Given the description of an element on the screen output the (x, y) to click on. 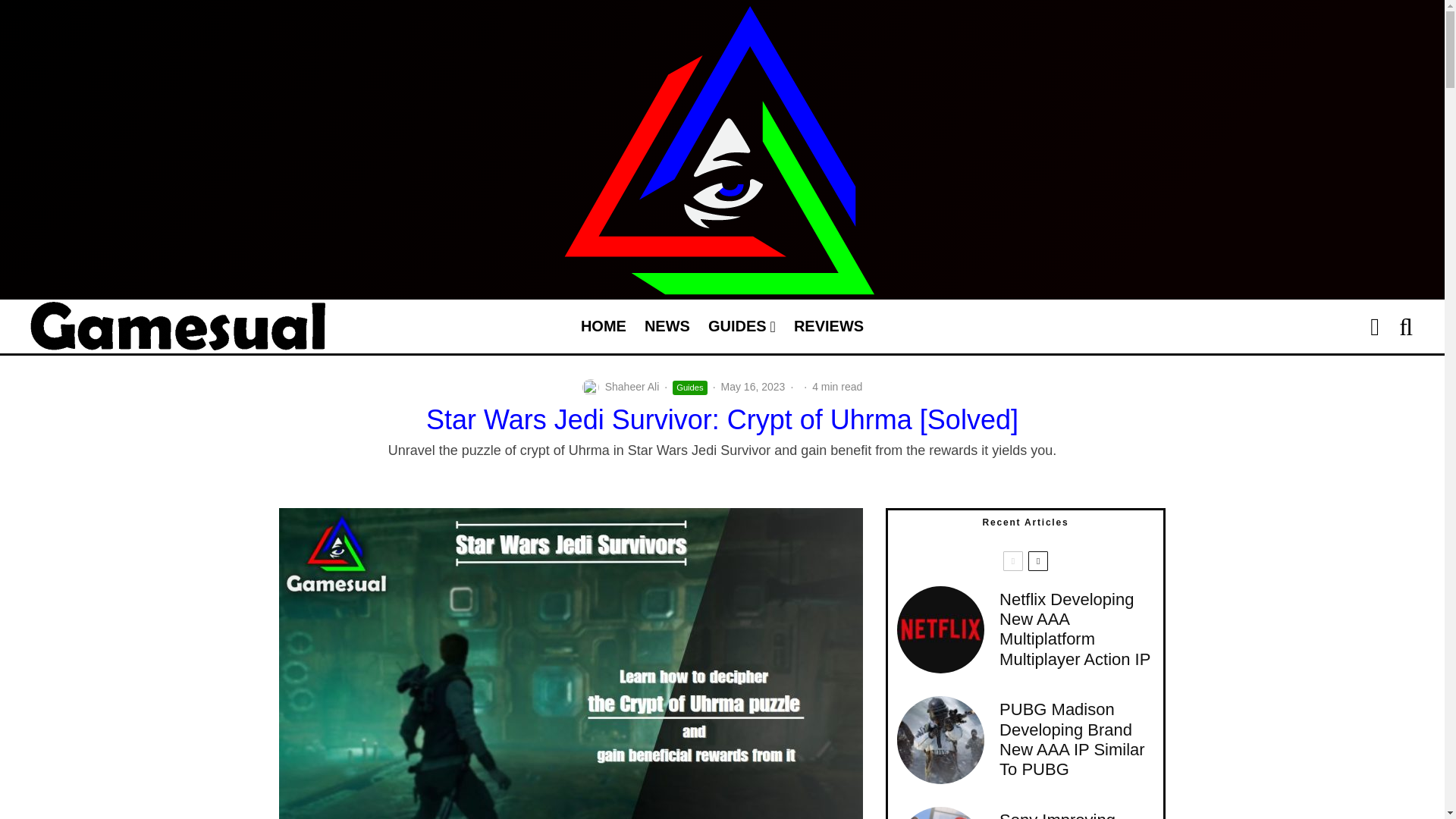
REVIEWS (828, 325)
GUIDES (741, 325)
HOME (603, 325)
NEWS (666, 325)
Guides (689, 387)
Shaheer Ali (632, 386)
